Given the description of an element on the screen output the (x, y) to click on. 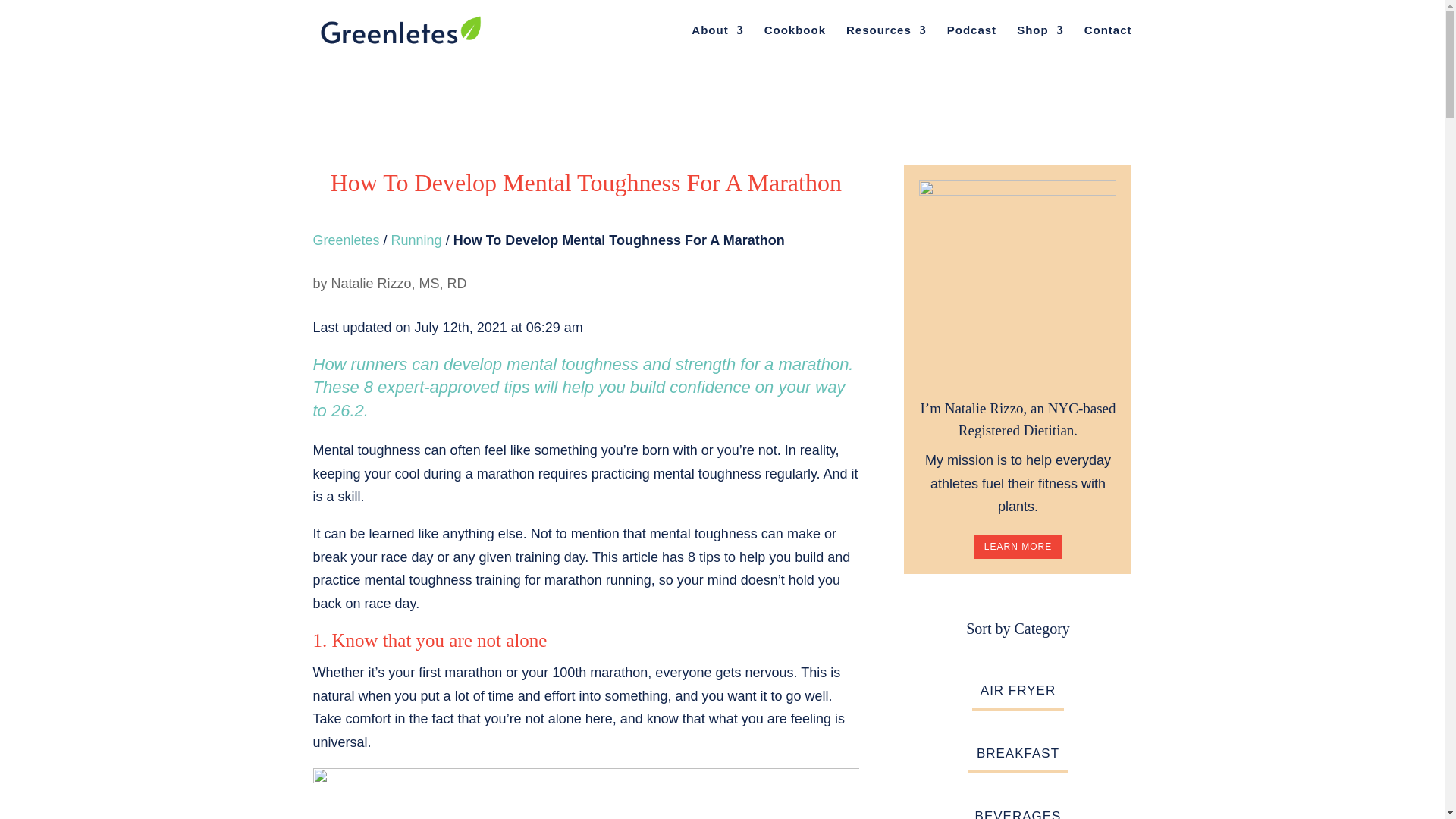
Podcast (971, 42)
BEVERAGES (1017, 809)
Contact (1108, 42)
BREAKFAST (1018, 753)
Natalie Rizzo, MS, RD (399, 283)
About (716, 42)
Running (416, 240)
Resources (885, 42)
Cookbook (794, 42)
Shop (1040, 42)
